Given the description of an element on the screen output the (x, y) to click on. 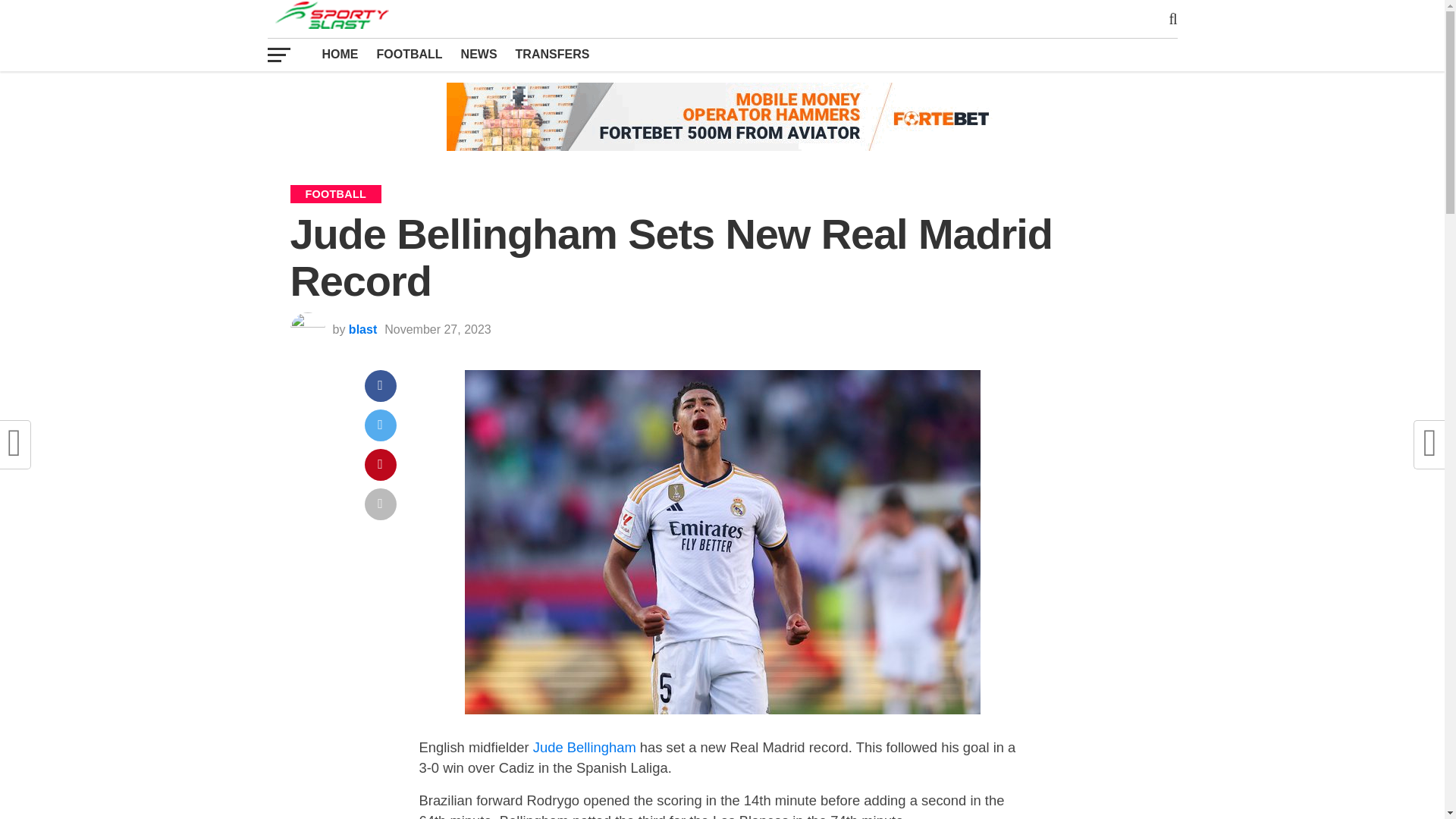
Jude Bellingham (584, 747)
FOOTBALL (408, 54)
HOME (339, 54)
blast (363, 328)
Posts by blast (363, 328)
TRANSFERS (552, 54)
NEWS (478, 54)
